Given the description of an element on the screen output the (x, y) to click on. 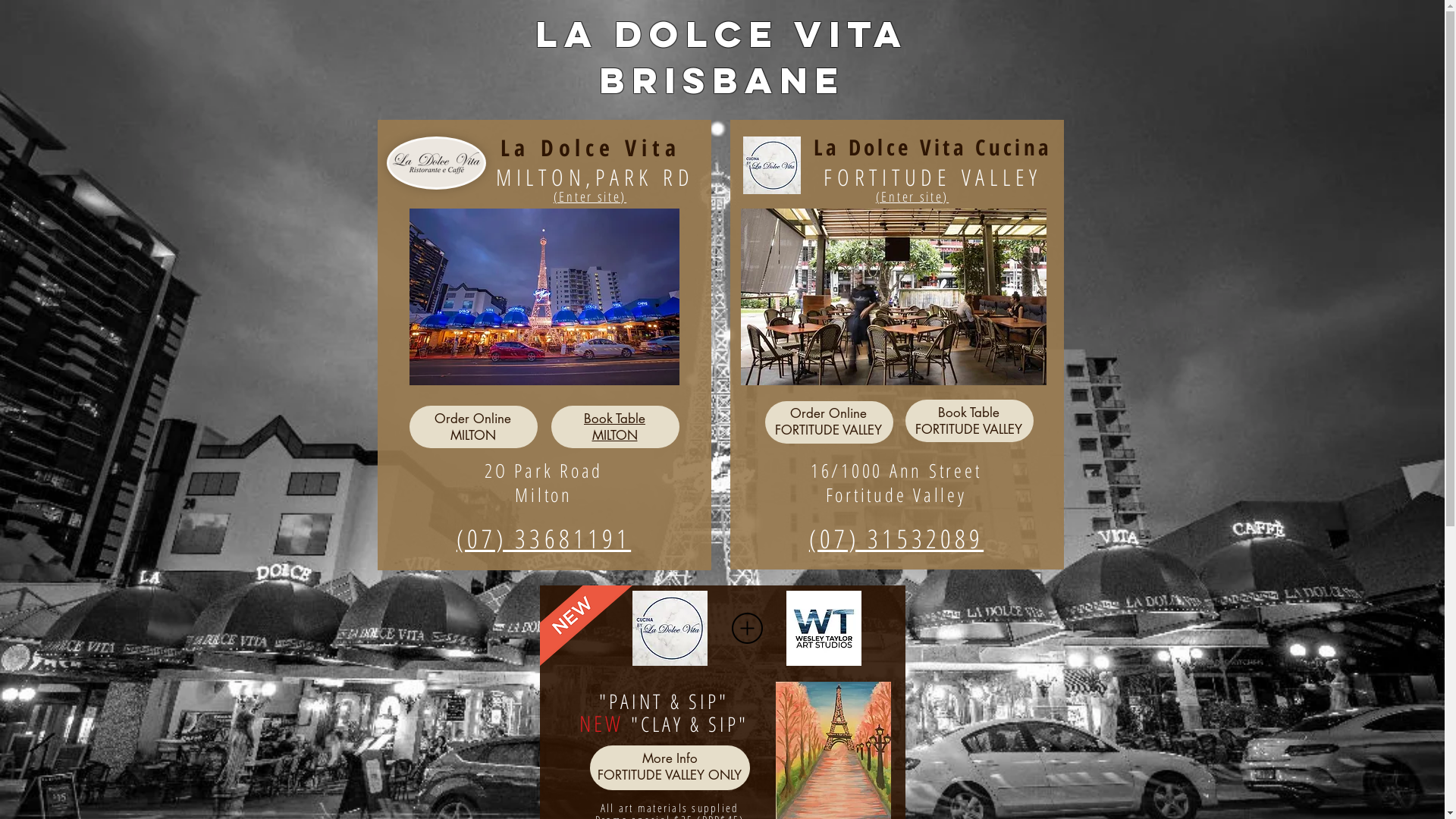
(Enter site) Element type: text (589, 196)
(07) 33681191 Element type: text (543, 537)
16/1000 Ann Street Element type: text (896, 471)
MILTON Element type: text (472, 434)
Order Online Element type: text (472, 418)
More Info Element type: text (668, 757)
FORTITUDE VALLEY ONLY Element type: text (669, 774)
Book Table
MILTON Element type: text (614, 426)
" Element type: text (723, 702)
FORTITUDE VALLEY Element type: text (932, 177)
NEW Element type: text (601, 724)
"PAINT & SIP Element type: text (658, 702)
Book Table Element type: text (968, 412)
Milton Element type: text (543, 495)
Order Online Element type: text (828, 412)
2O Park Road Element type: text (543, 471)
FORTITUDE VALLEY Element type: text (828, 429)
(07) 31532089 Element type: text (896, 539)
MILTON,PARK RD Element type: text (594, 177)
FORTITUDE VALLEY Element type: text (968, 428)
La Dolce Vita Element type: text (590, 148)
(Enter site) Element type: text (911, 196)
"CLAY & SIP" Element type: text (686, 724)
Fortitude Valley Element type: text (895, 495)
La Dolce Vita Cucina Element type: text (931, 147)
